Given the description of an element on the screen output the (x, y) to click on. 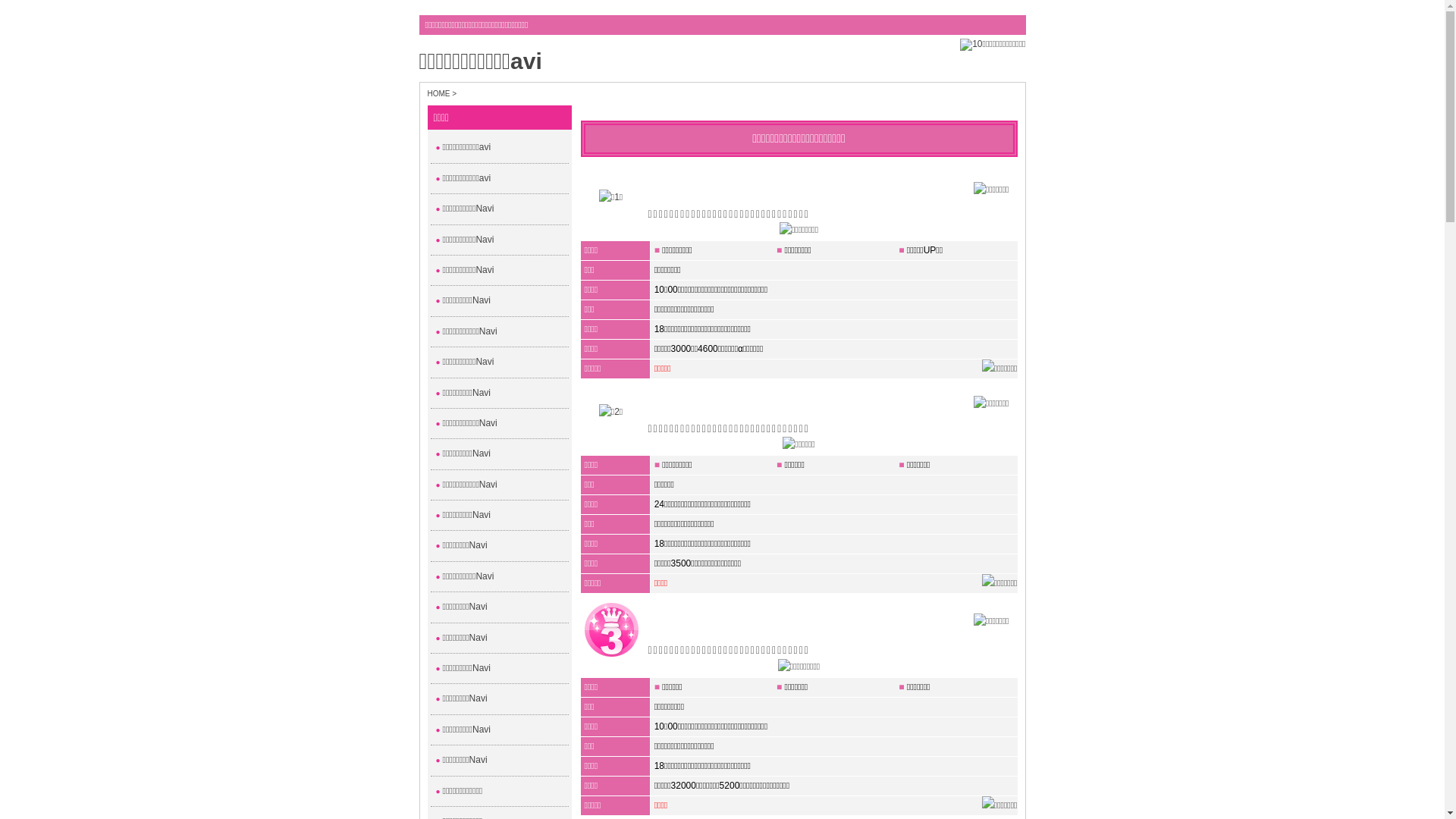
HOME Element type: text (438, 93)
